Given the description of an element on the screen output the (x, y) to click on. 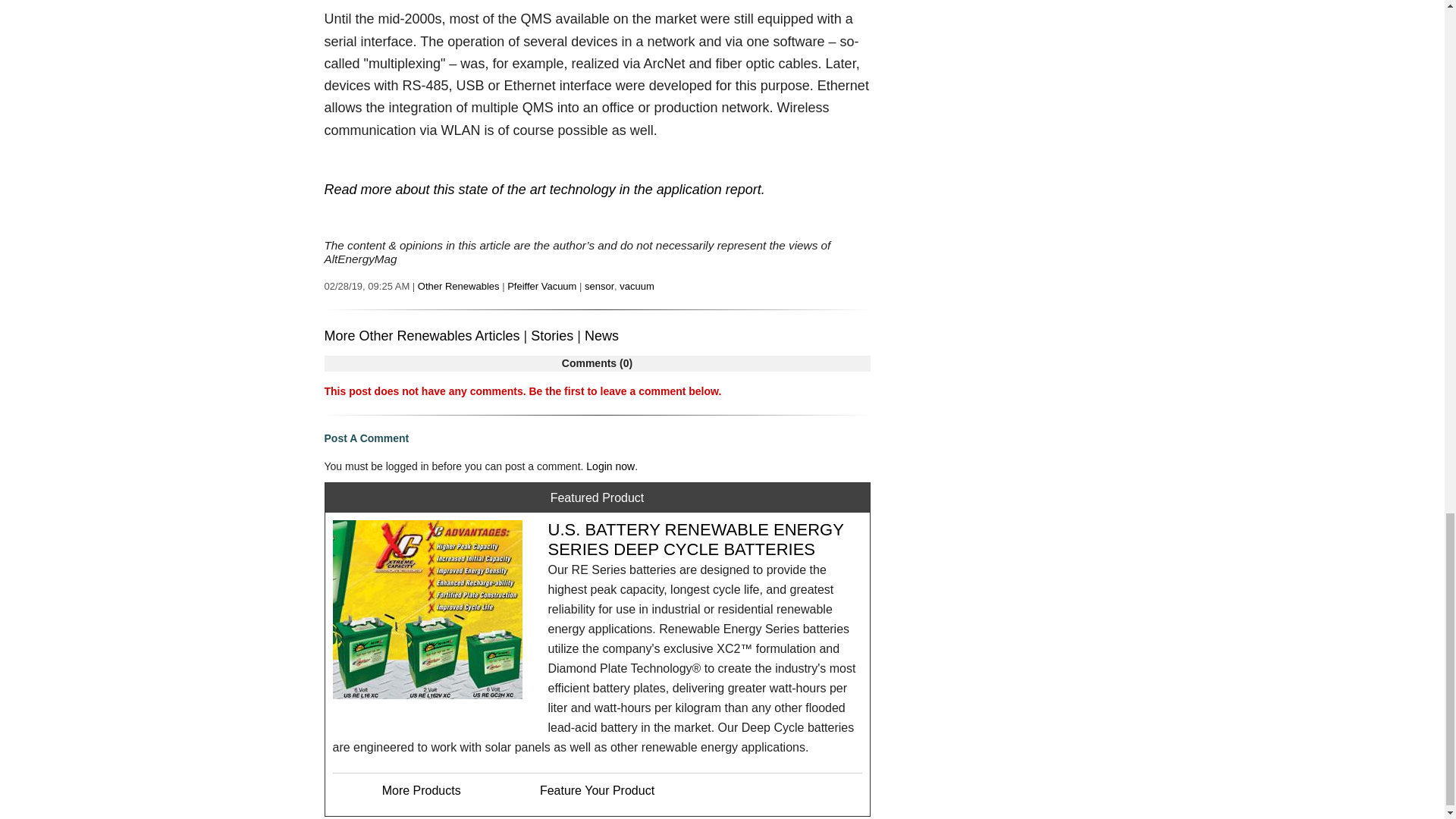
Feature Your Product (596, 789)
Stories (552, 335)
News (601, 335)
More Products (421, 789)
Other Renewables (458, 285)
sensor (599, 285)
Pfeiffer Vacuum (541, 285)
vacuum (636, 285)
U.S. BATTERY RENEWABLE ENERGY SERIES DEEP CYCLE BATTERIES (695, 539)
Login now (610, 466)
